Given the description of an element on the screen output the (x, y) to click on. 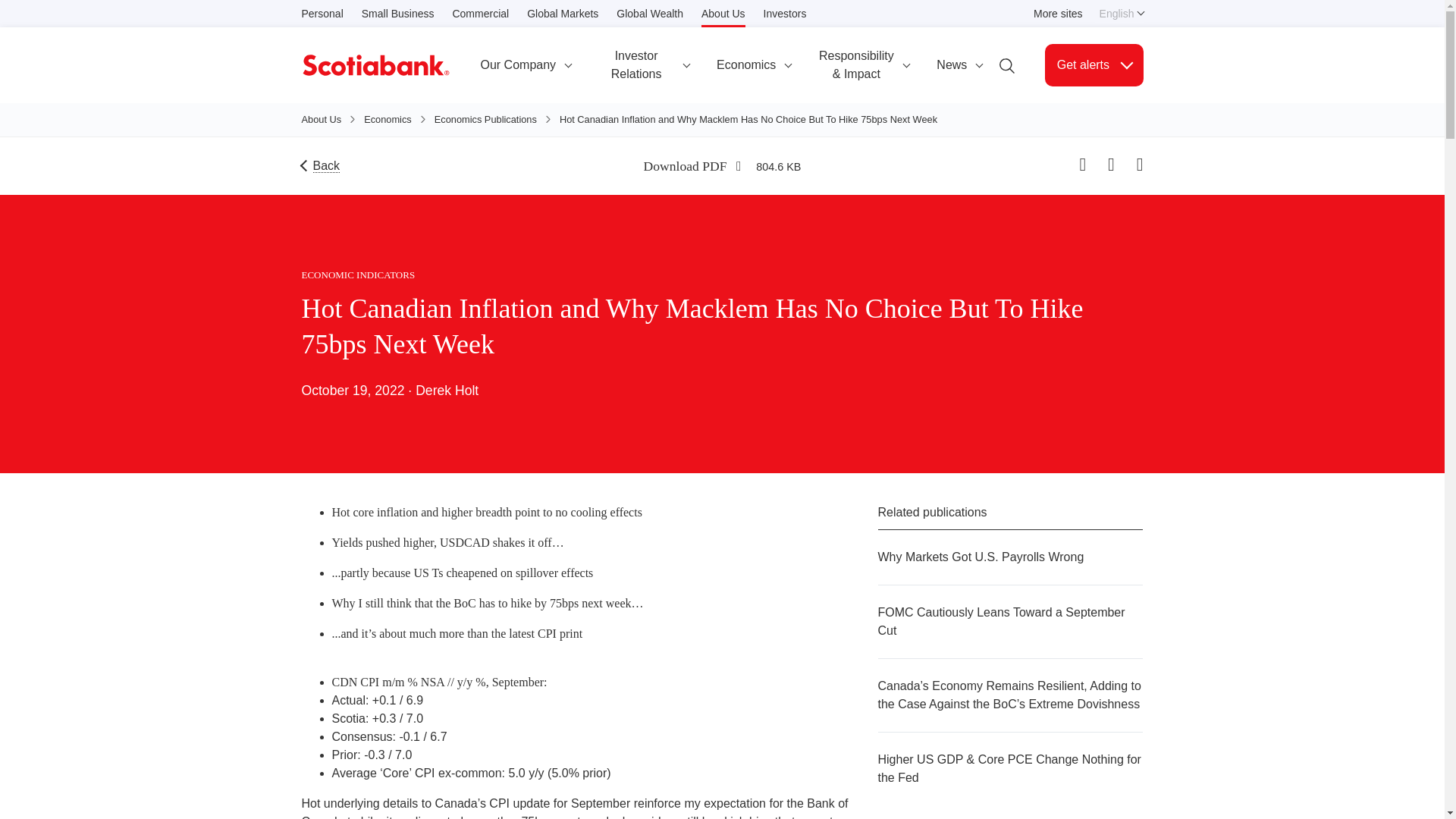
Our Company (1118, 13)
Global Wealth (526, 65)
More sites (648, 13)
About Us (1058, 13)
Commercial (723, 13)
Global Markets (479, 13)
Investors (562, 13)
Economics (784, 13)
Investor Relations (753, 65)
